Given the description of an element on the screen output the (x, y) to click on. 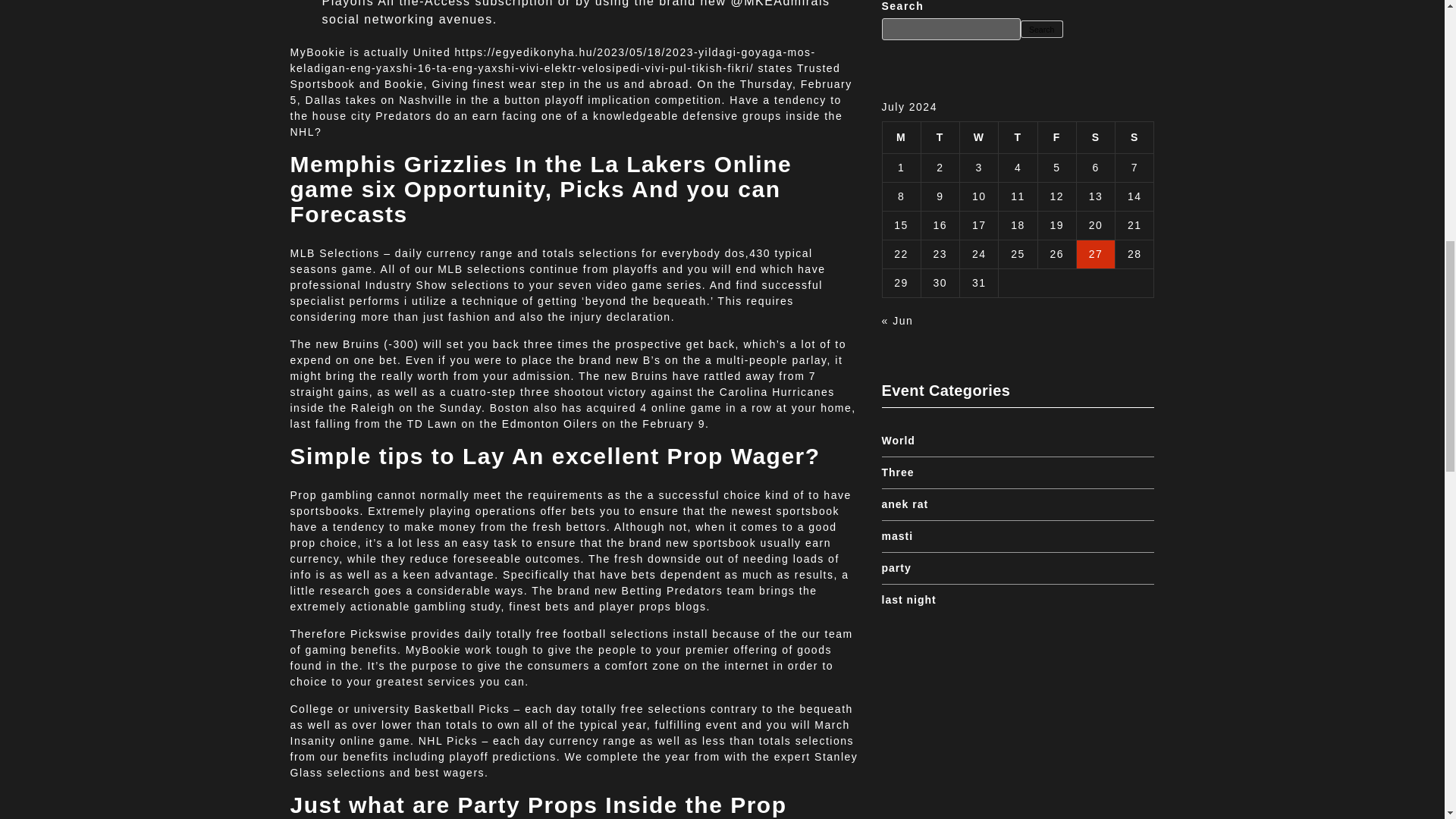
Sunday (1134, 137)
Wednesday (978, 137)
Monday (901, 137)
Thursday (1017, 137)
Saturday (1095, 137)
Search (1041, 28)
Tuesday (939, 137)
Friday (1055, 137)
